Given the description of an element on the screen output the (x, y) to click on. 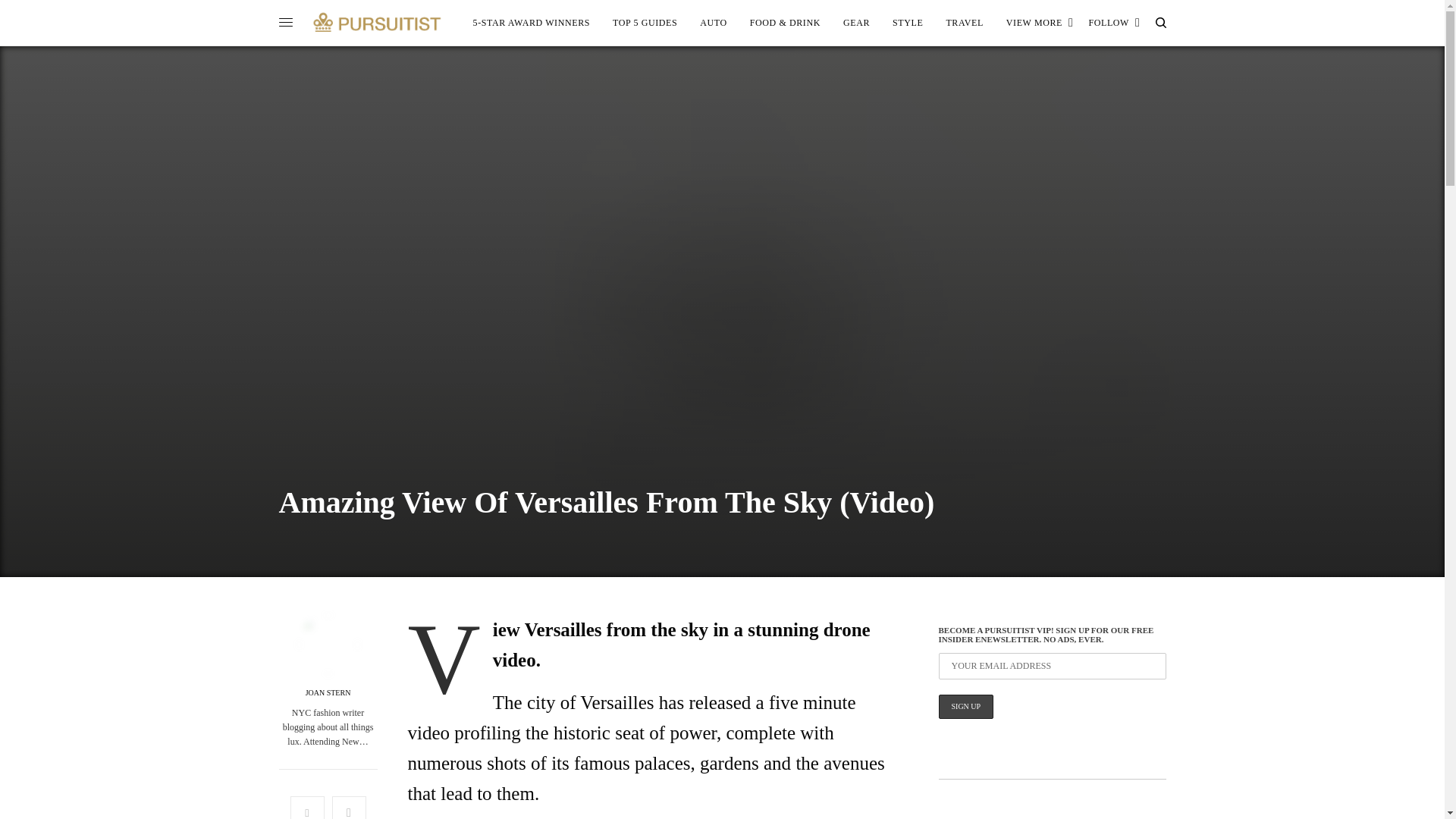
JOAN STERN (328, 692)
FOLLOW (1113, 22)
5-Star Pursuits (532, 22)
TOP 5 GUIDES (644, 22)
Pursuitist (376, 22)
Sign up (966, 706)
VIEW MORE (1040, 22)
5-STAR AWARD WINNERS (532, 22)
